Given the description of an element on the screen output the (x, y) to click on. 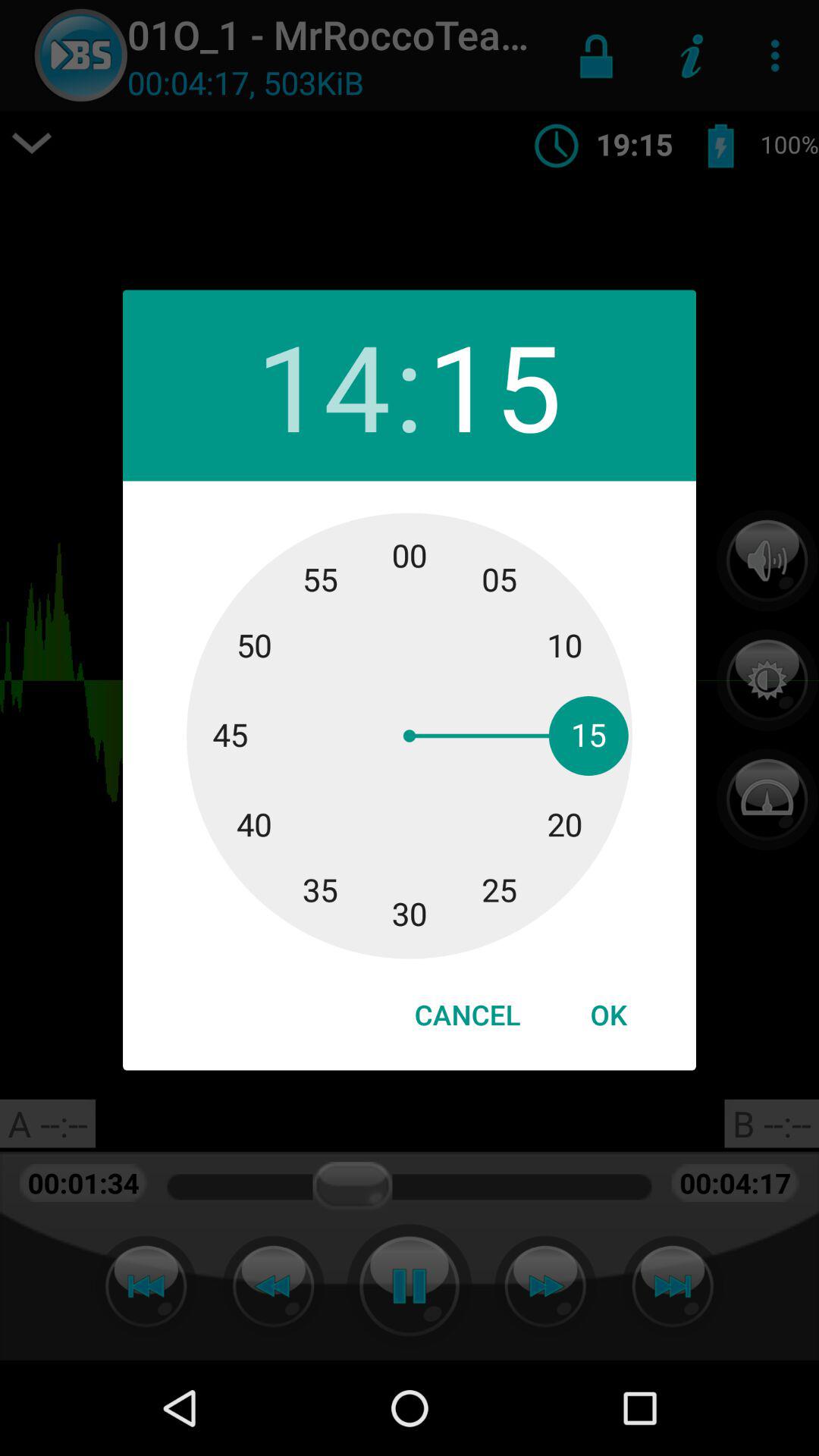
turn on item to the left of the ok (467, 1014)
